Given the description of an element on the screen output the (x, y) to click on. 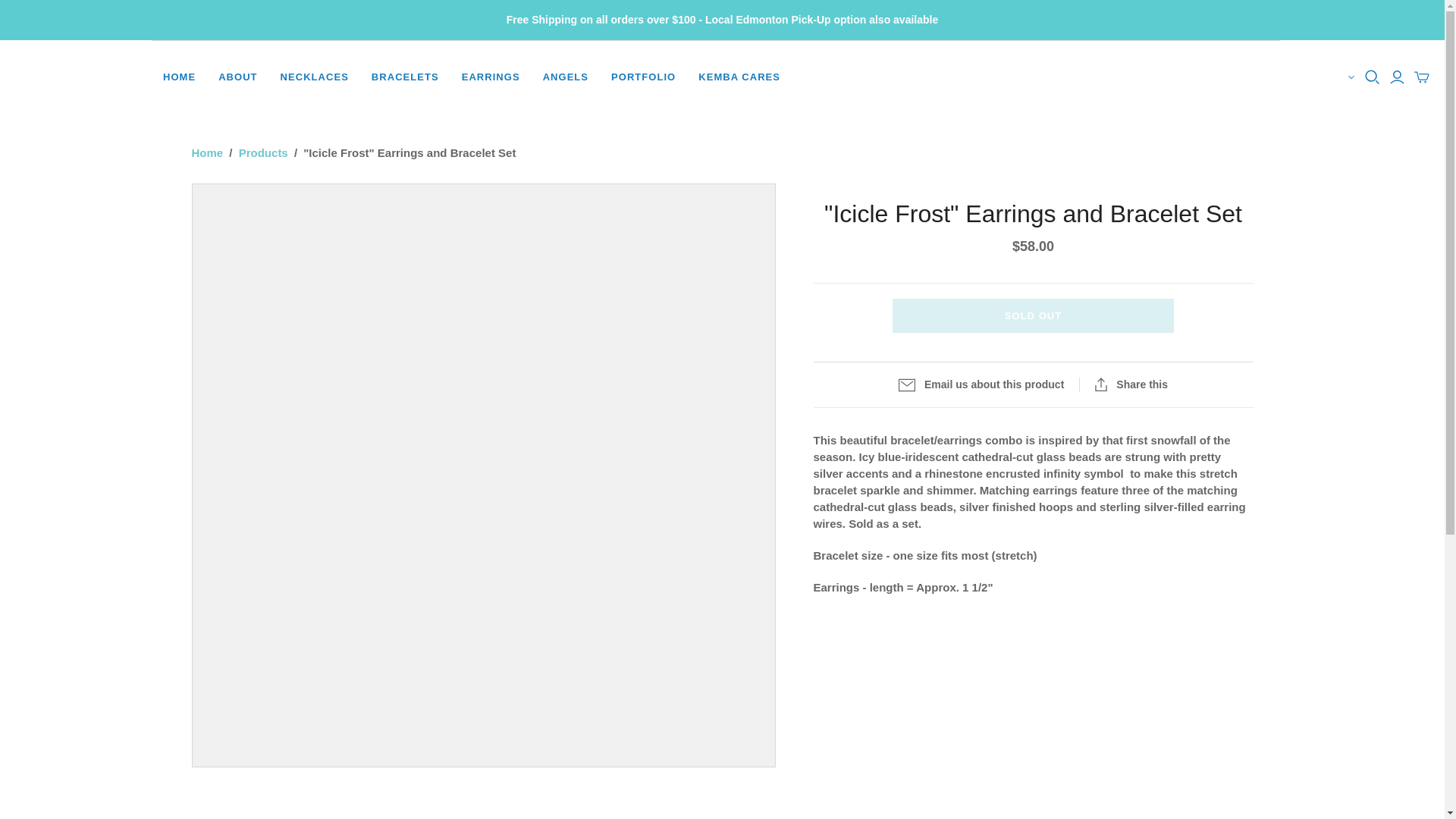
KEMBA CARES (739, 76)
PORTFOLIO (643, 76)
Home (206, 152)
ABOUT (236, 76)
Products (263, 152)
SOLD OUT (1032, 315)
NECKLACES (314, 76)
HOME (178, 76)
EARRINGS (490, 76)
ANGELS (565, 76)
